Given the description of an element on the screen output the (x, y) to click on. 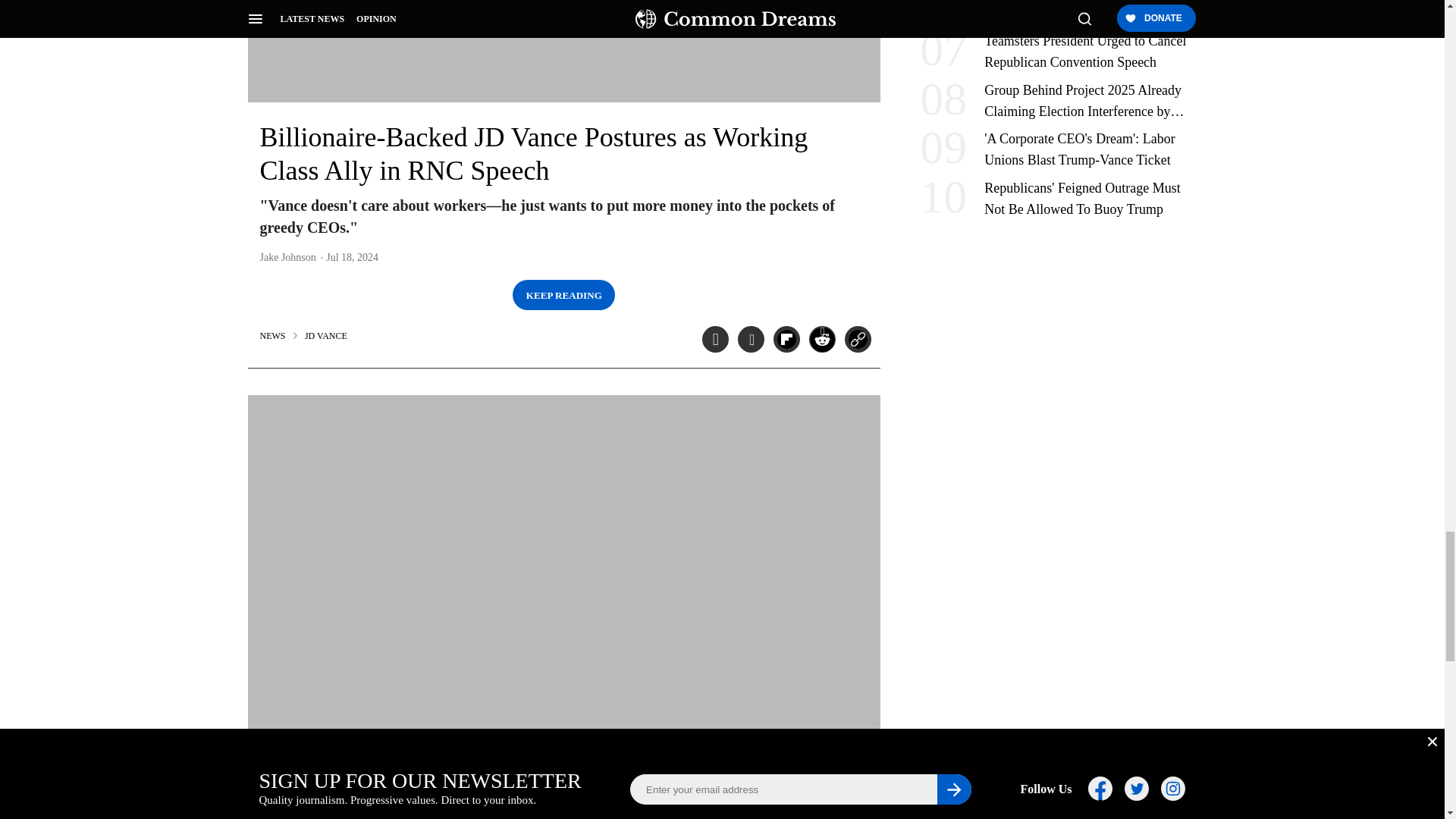
Copy this link to clipboard (857, 338)
